Given the description of an element on the screen output the (x, y) to click on. 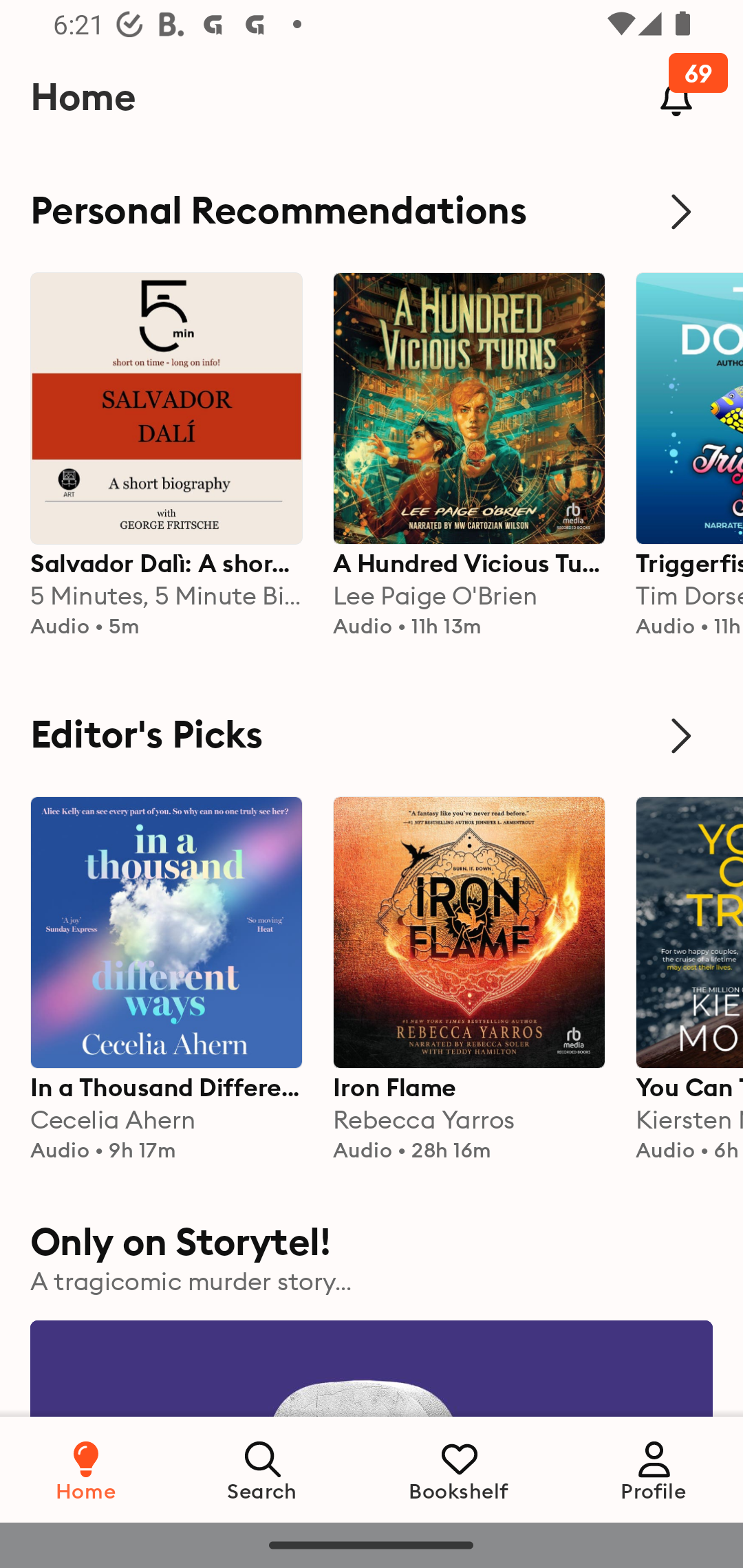
Personal Recommendations (371, 211)
Editor's Picks (371, 735)
Home (85, 1468)
Search (262, 1468)
Bookshelf (458, 1468)
Profile (653, 1468)
